Given the description of an element on the screen output the (x, y) to click on. 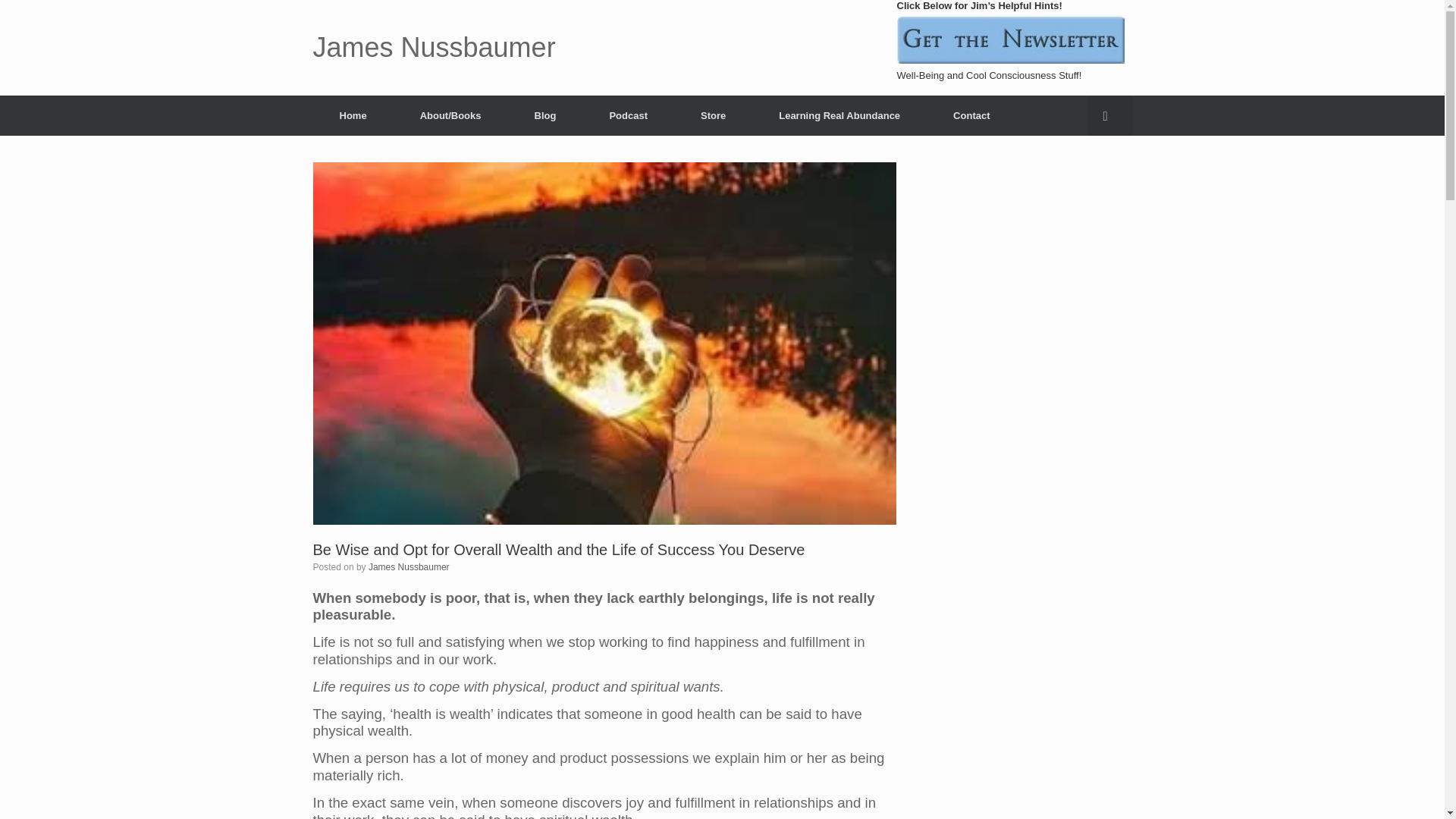
Blog (545, 115)
Home (353, 115)
Podcast (628, 115)
James Nussbaumer (408, 566)
Click Below for Jim's Helpful Hints! (1010, 39)
Contact (971, 115)
James Nussbaumer (433, 47)
View all posts by James Nussbaumer (408, 566)
Learning Real Abundance (839, 115)
James Nussbaumer (433, 47)
